Given the description of an element on the screen output the (x, y) to click on. 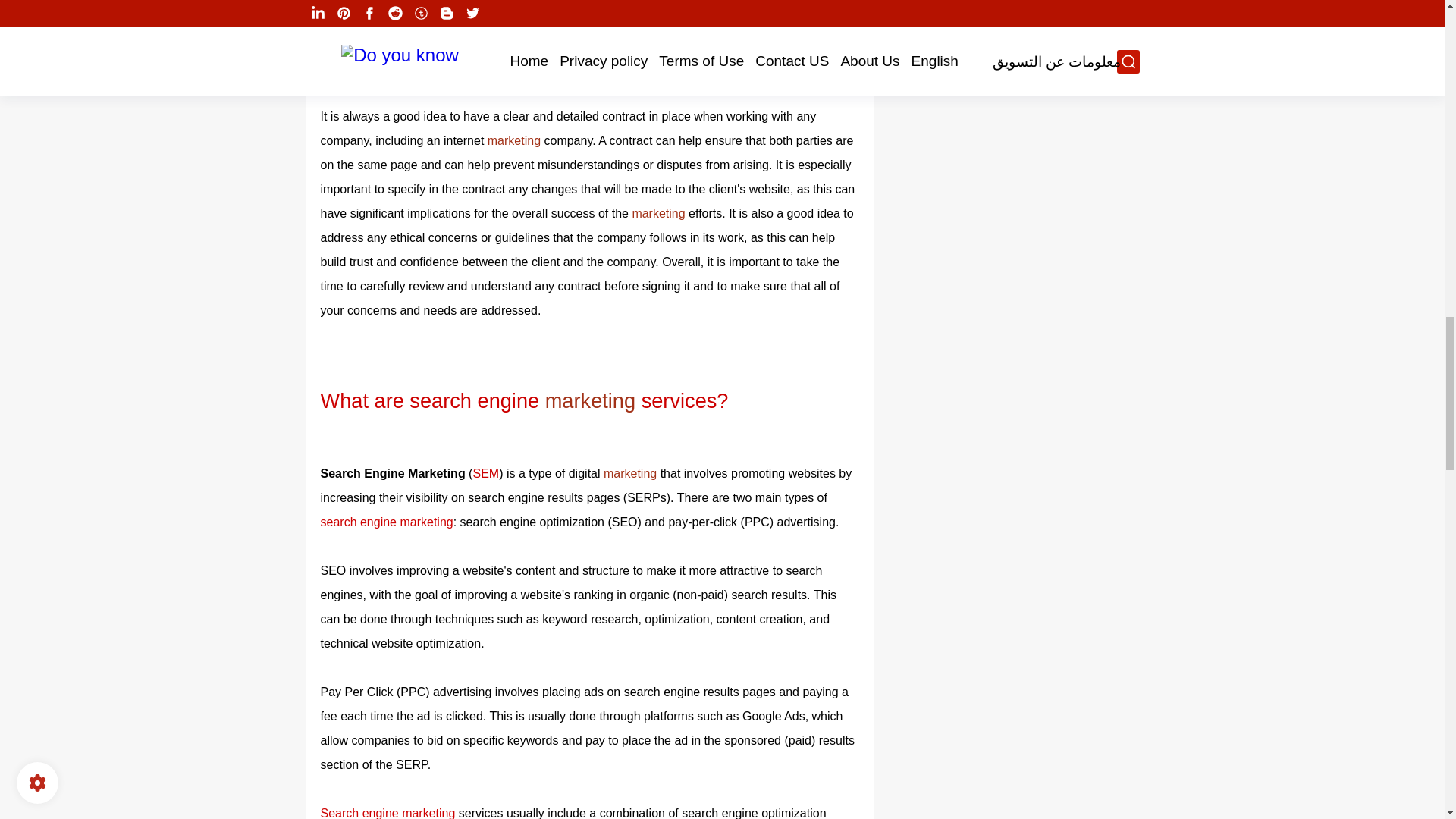
marketing (659, 213)
marketing (593, 400)
marketing (632, 472)
marketing (515, 140)
